Given the description of an element on the screen output the (x, y) to click on. 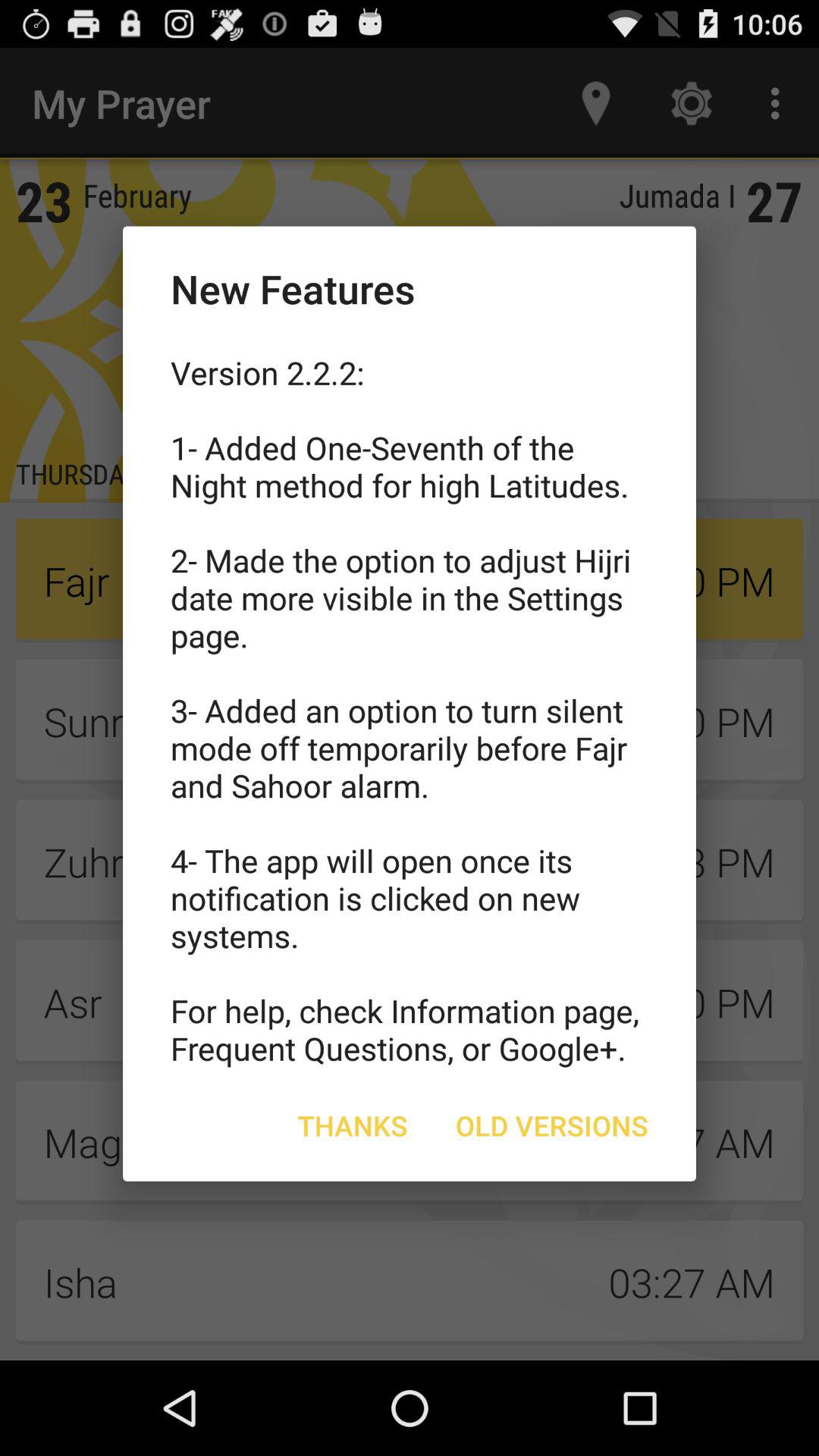
scroll to old versions icon (551, 1125)
